Given the description of an element on the screen output the (x, y) to click on. 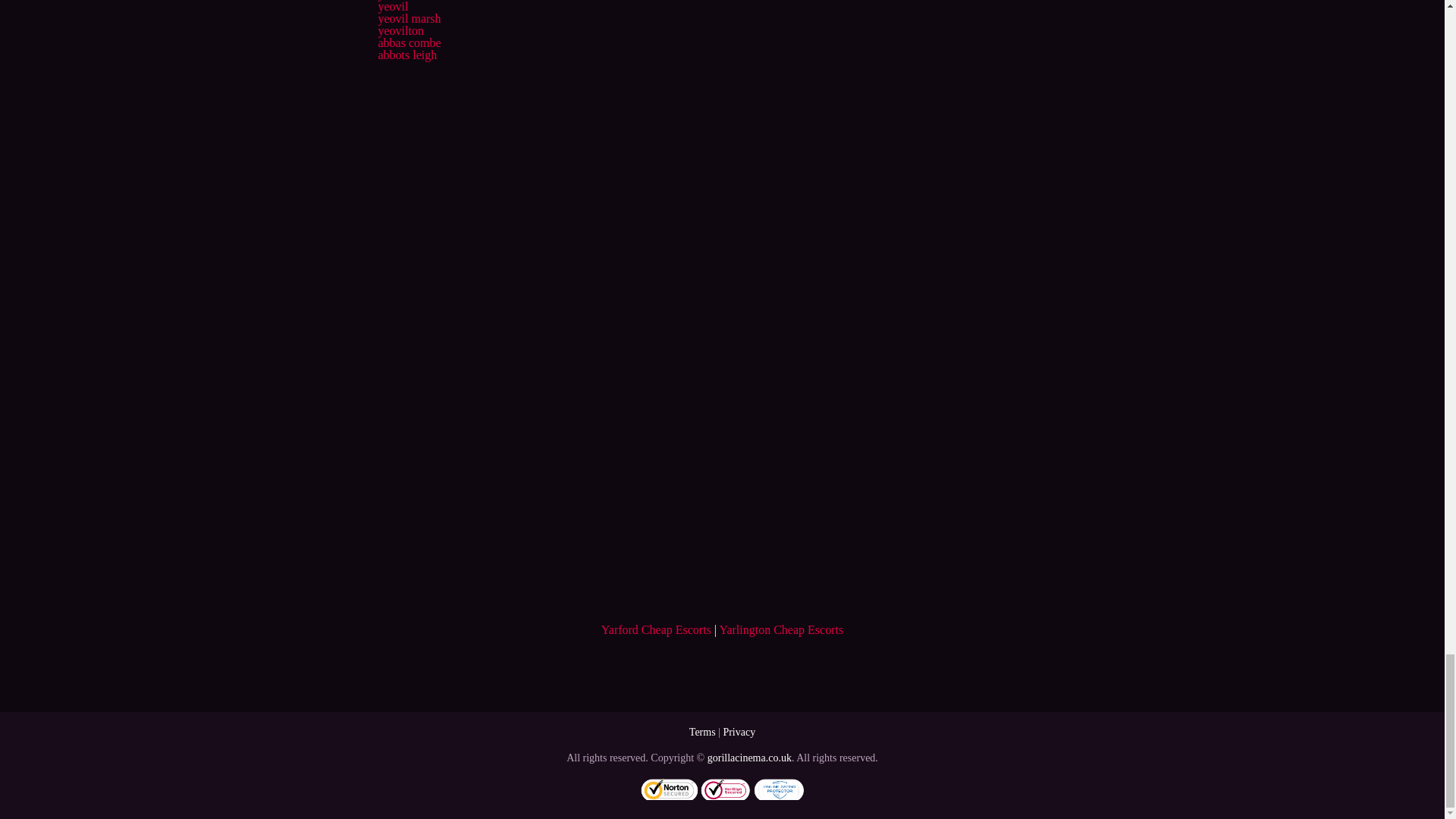
abbas combe (409, 42)
Yarlington Cheap Escorts (781, 629)
Terms (702, 731)
yeovil marsh (409, 18)
Terms (702, 731)
Yarford Cheap Escorts (656, 629)
Privacy (738, 731)
Privacy (738, 731)
gorillacinema.co.uk (749, 757)
